Given the description of an element on the screen output the (x, y) to click on. 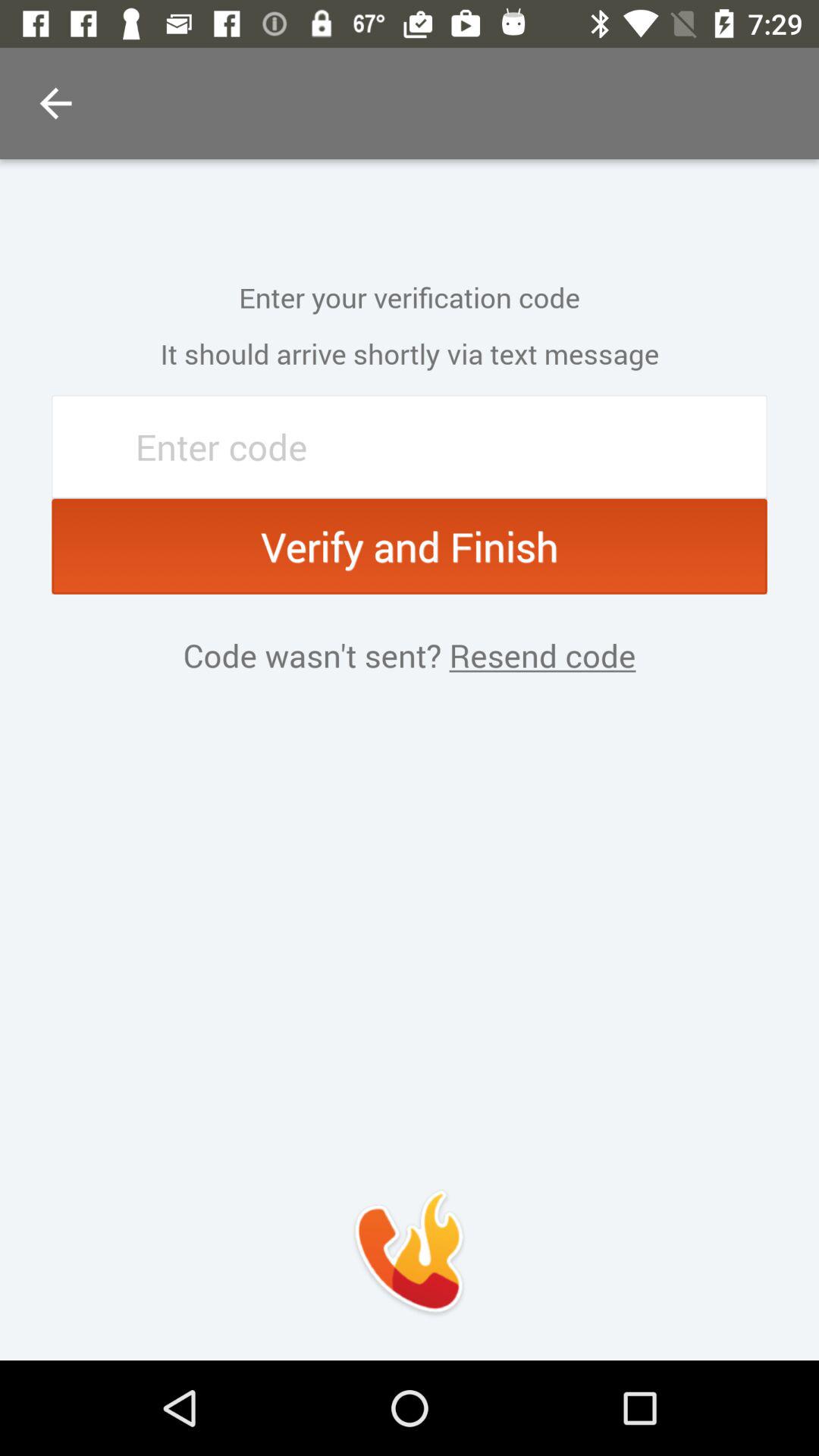
jump to verify and finish icon (409, 546)
